Given the description of an element on the screen output the (x, y) to click on. 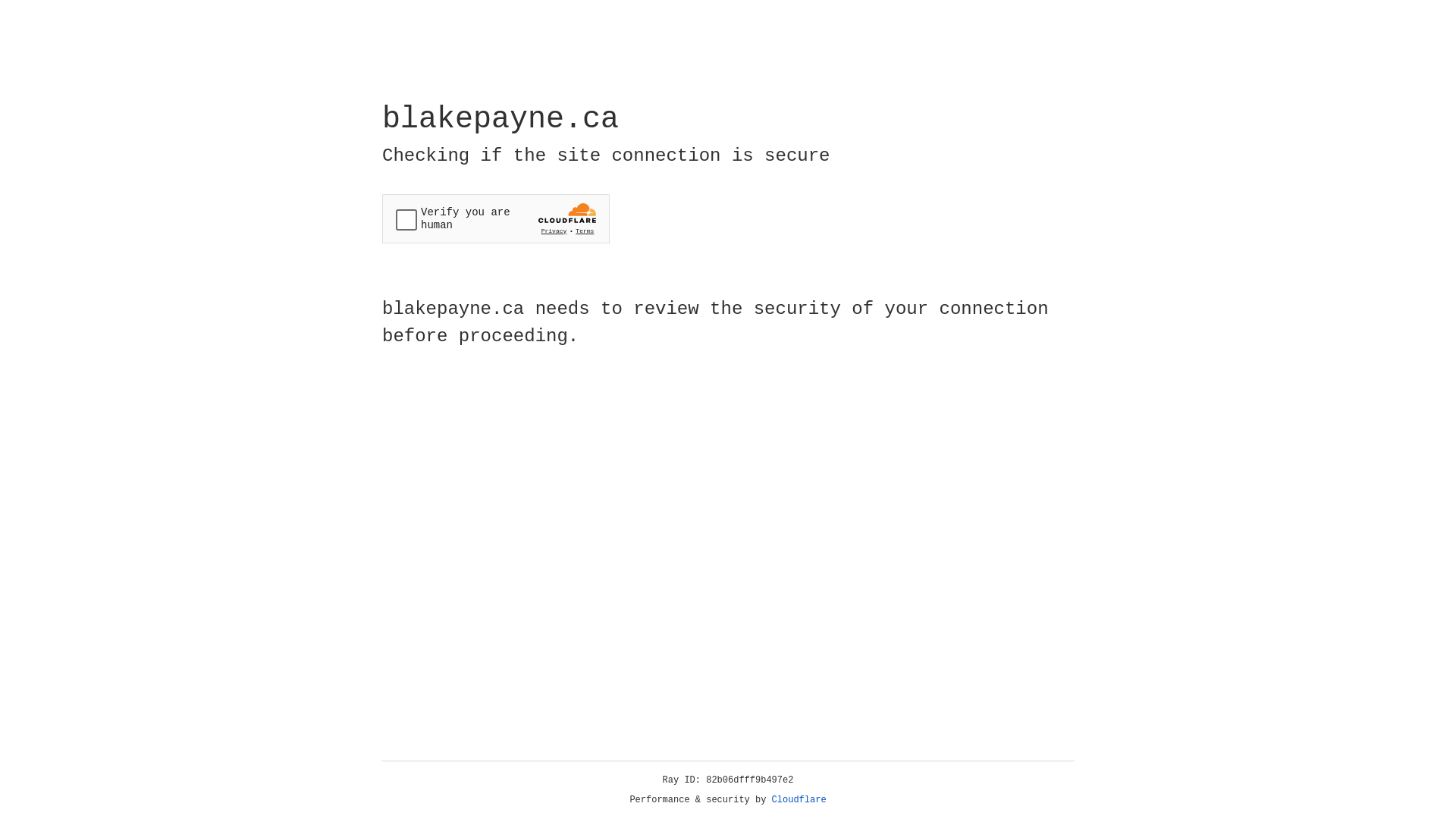
Widget containing a Cloudflare security challenge Element type: hover (495, 218)
Cloudflare Element type: text (798, 799)
